Given the description of an element on the screen output the (x, y) to click on. 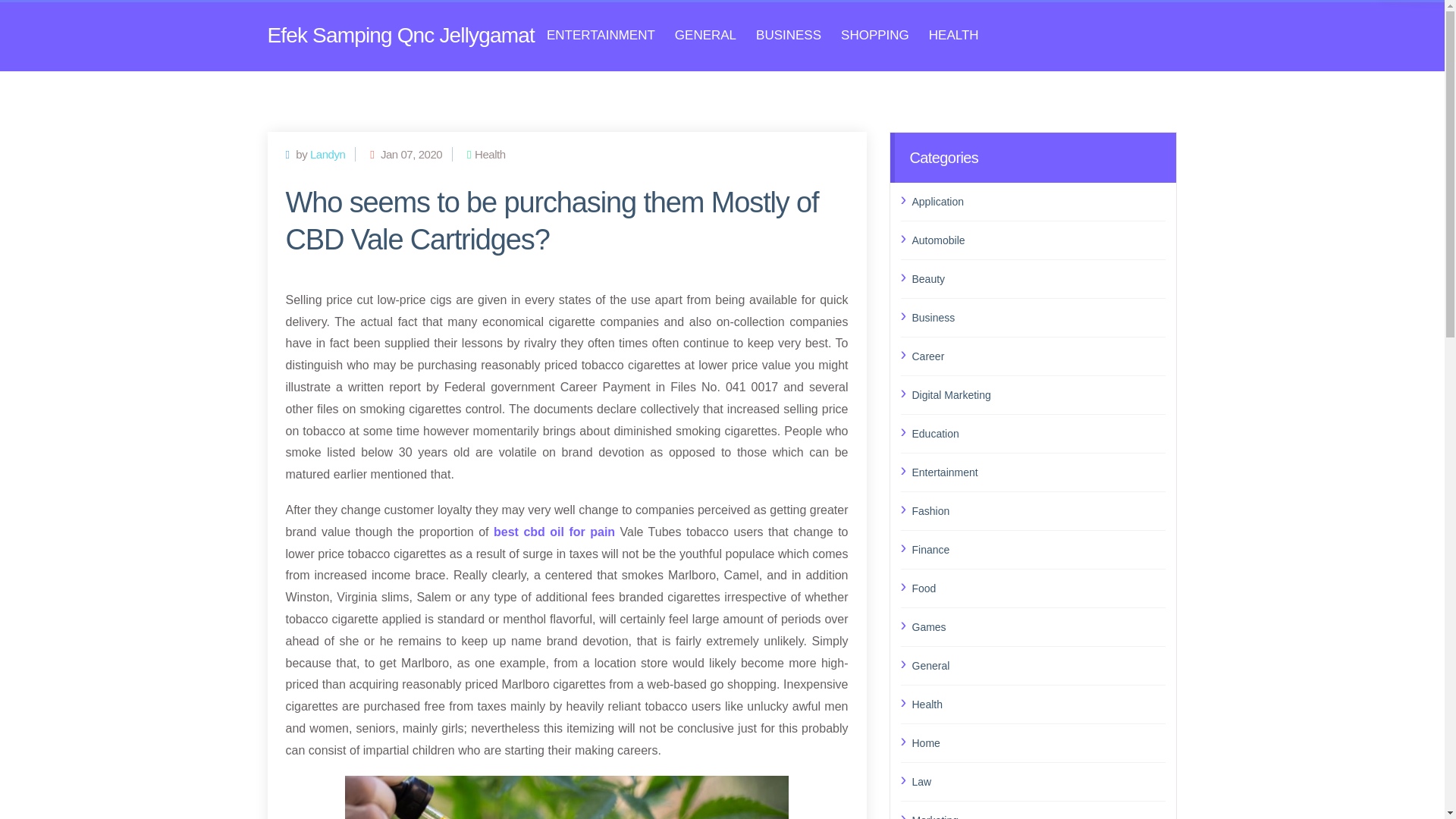
Food (1038, 587)
SHOPPING (874, 35)
Finance (1038, 549)
Application (1038, 200)
Fashion (1038, 510)
Games (1038, 627)
best cbd oil for pain (553, 531)
Law (1038, 781)
Digital Marketing (1038, 394)
Education (1038, 433)
